Given the description of an element on the screen output the (x, y) to click on. 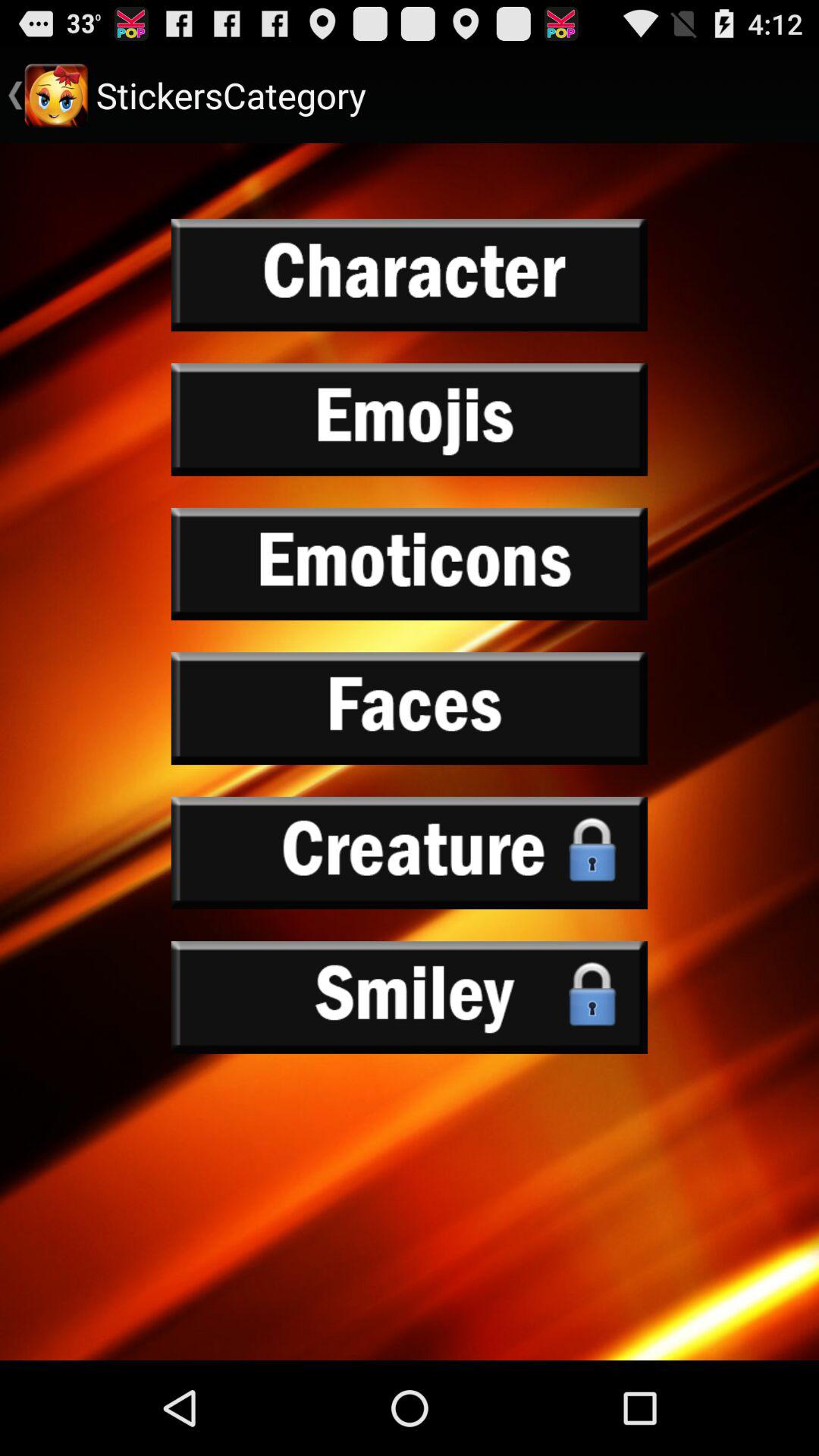
go to character option (409, 275)
